Given the description of an element on the screen output the (x, y) to click on. 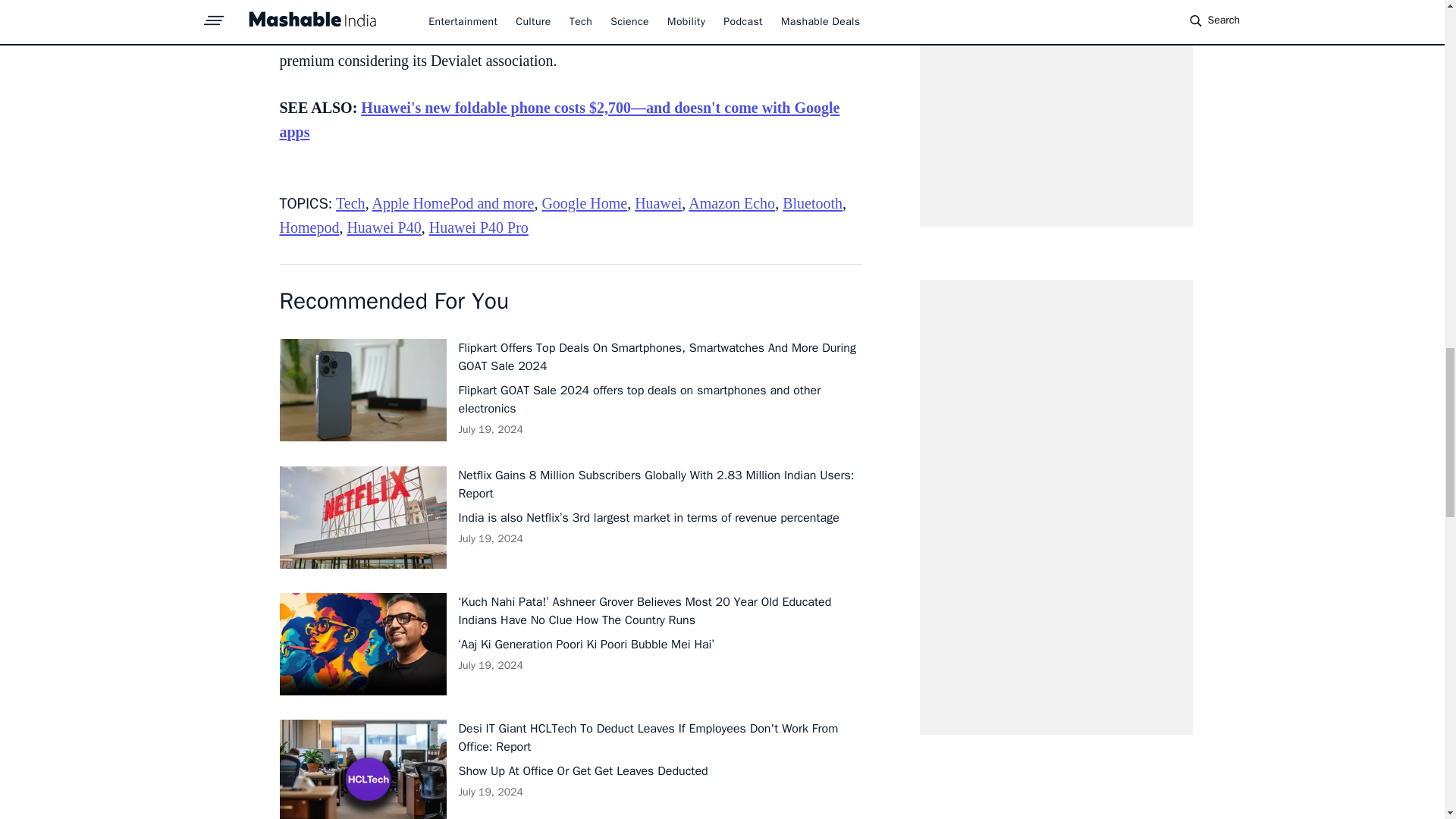
Apple HomePod and more (453, 202)
Amazon Echo (731, 202)
Huawei (657, 202)
Tech (350, 202)
Huawei P40 Pro (478, 227)
Google Home (584, 202)
Homepod (309, 227)
Bluetooth (813, 202)
Huawei P40 (383, 227)
